Given the description of an element on the screen output the (x, y) to click on. 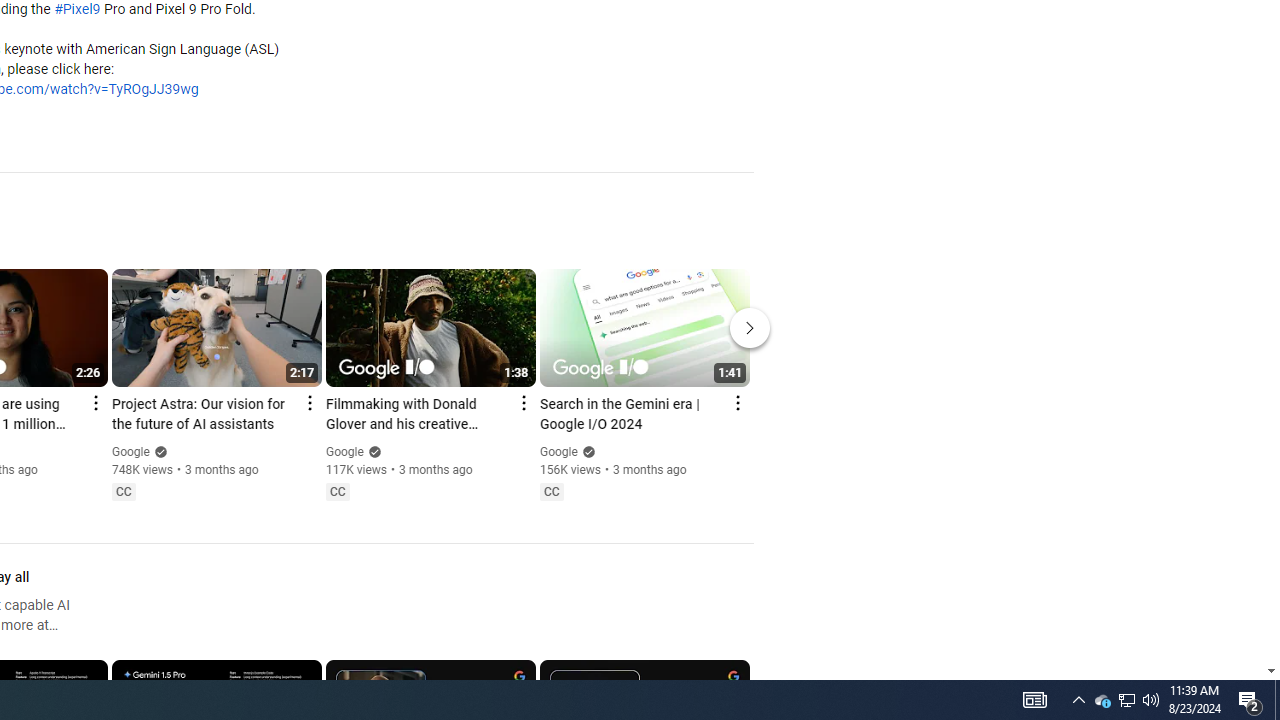
Action menu (736, 403)
Verified (586, 451)
#Pixel9 (77, 10)
Closed captions (551, 492)
Next (749, 327)
